Given the description of an element on the screen output the (x, y) to click on. 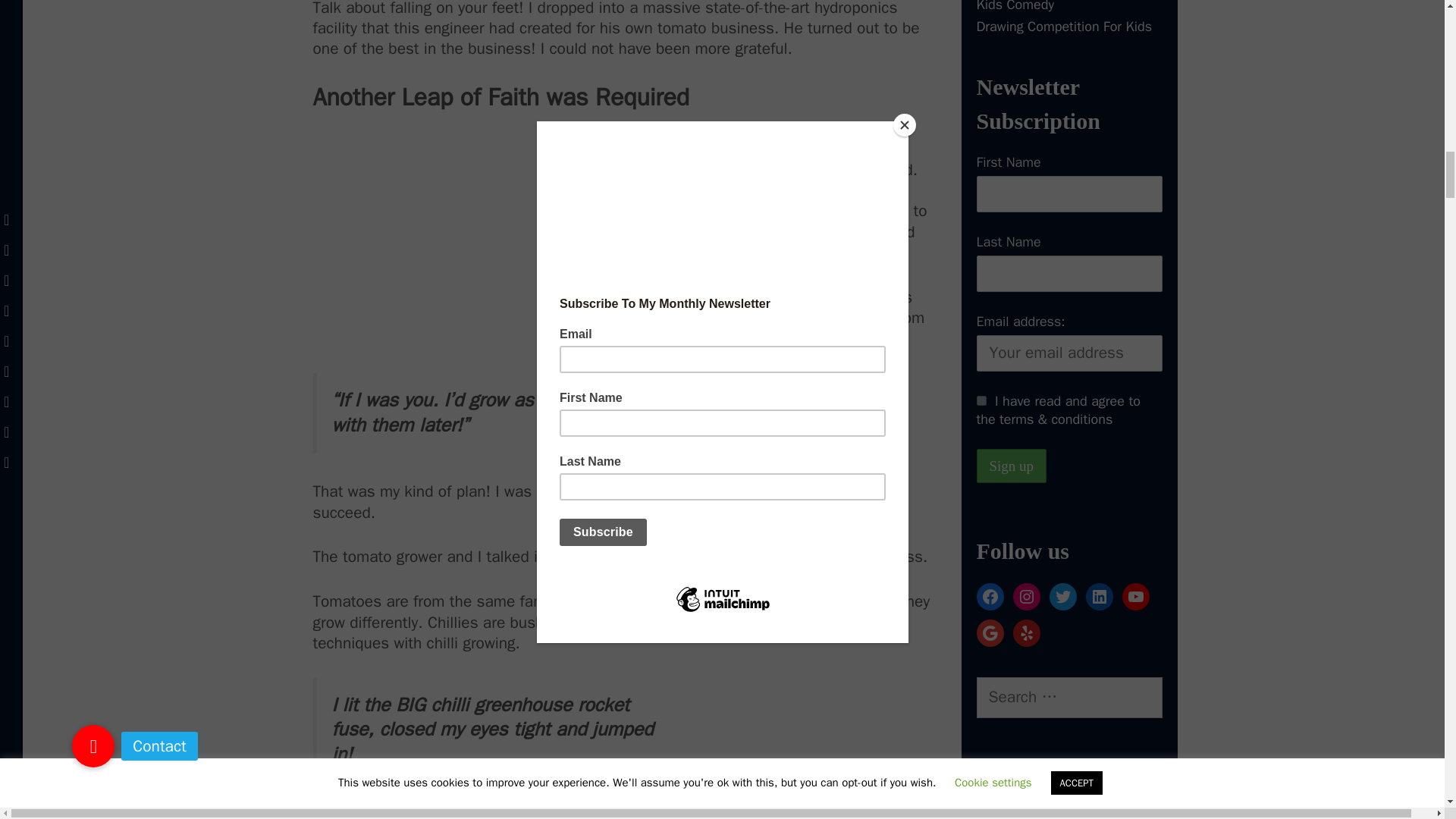
Search for: (1068, 697)
1 (981, 400)
Sign up (1011, 465)
